Given the description of an element on the screen output the (x, y) to click on. 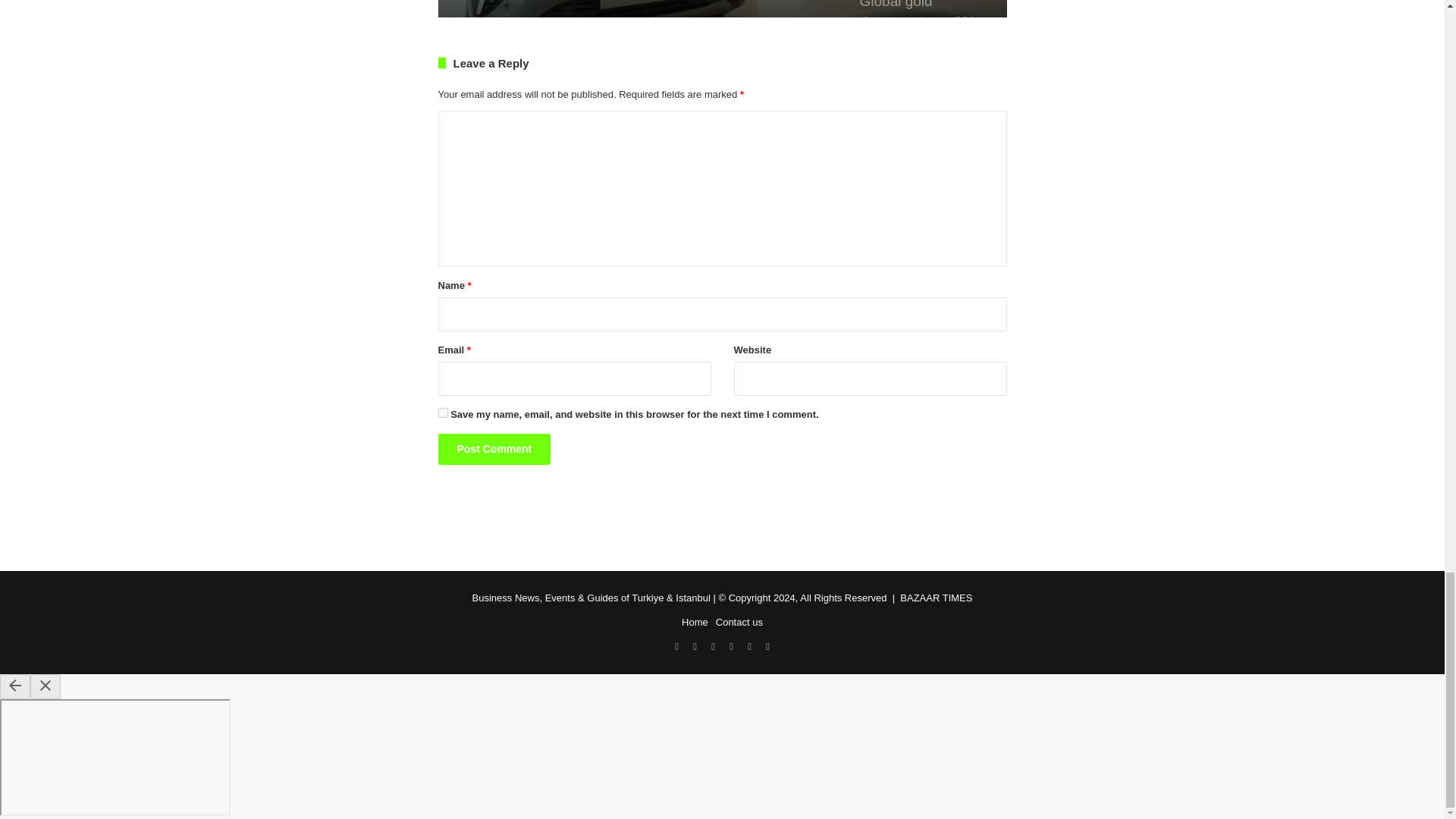
Post Comment (494, 449)
yes (443, 412)
